Given the description of an element on the screen output the (x, y) to click on. 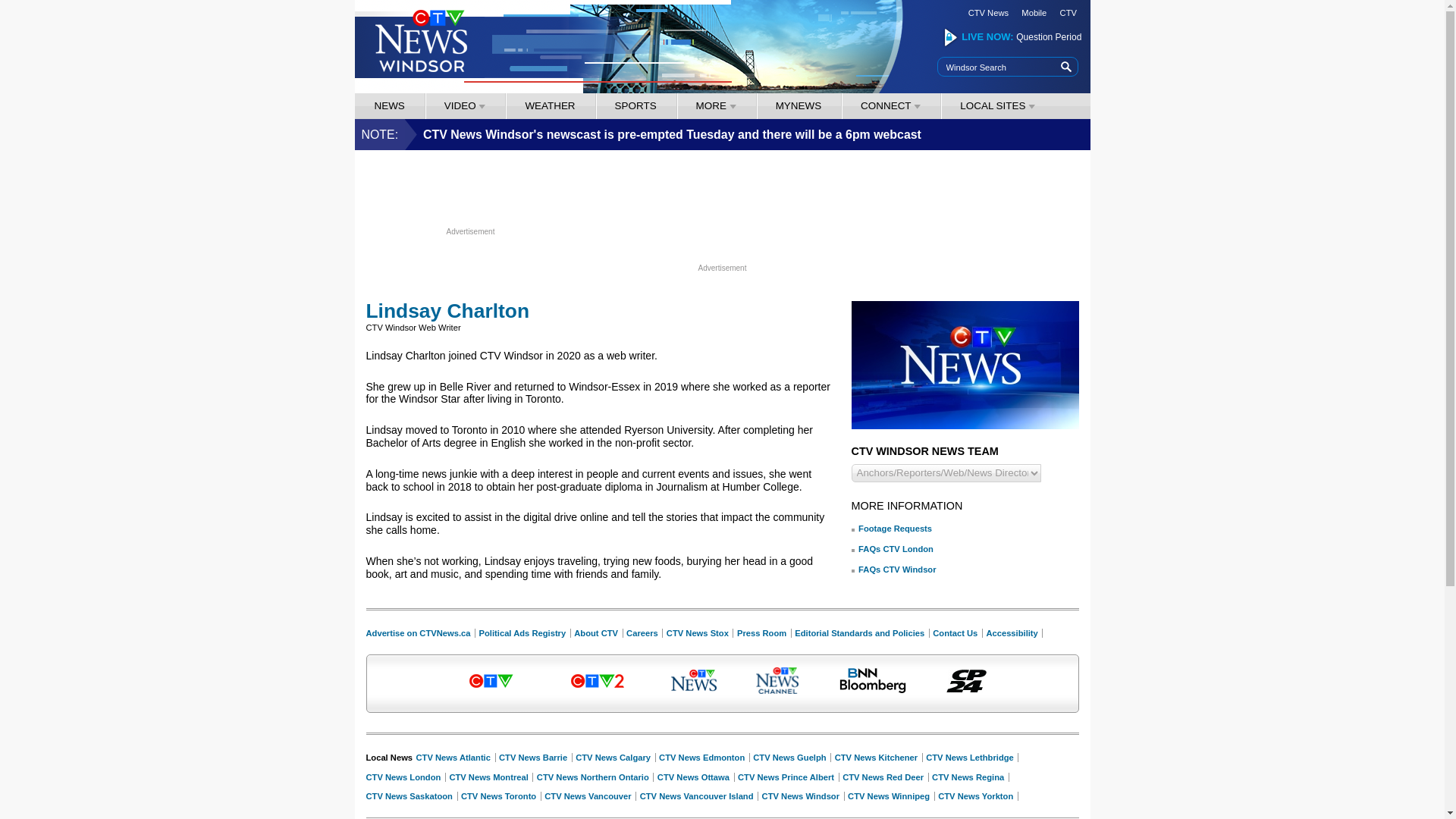
Sports (635, 105)
CTV News (988, 12)
NEWS (389, 105)
Question Period (1048, 36)
CTV Windsor (420, 40)
Windsor (389, 105)
MYNEWS (798, 105)
Mobile (1034, 12)
CTV (1068, 12)
CTV (1068, 12)
SPORTS (635, 105)
Weather (549, 105)
WEATHER (549, 105)
